Given the description of an element on the screen output the (x, y) to click on. 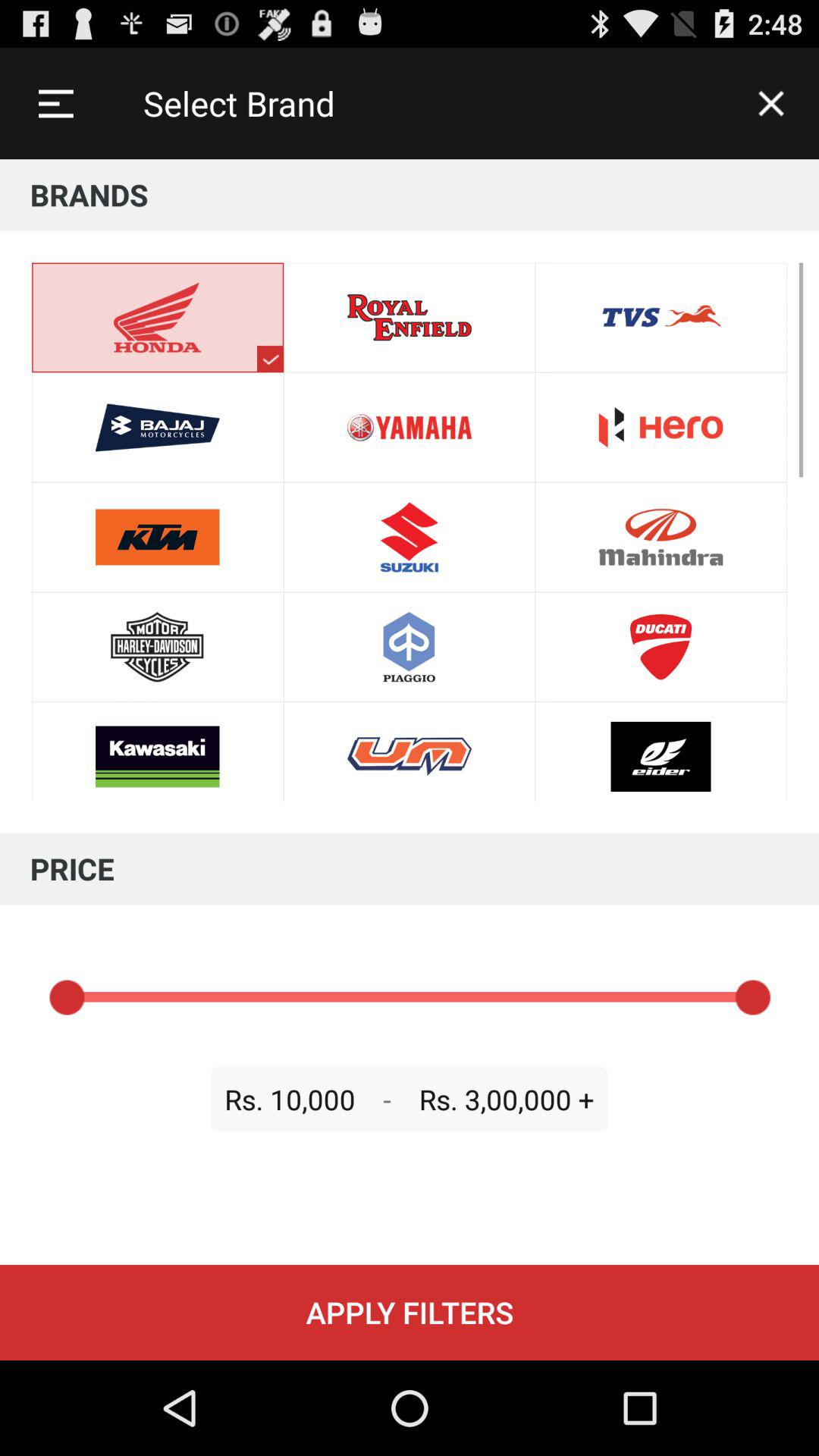
select the icon to the right of the select brand icon (771, 103)
